Given the description of an element on the screen output the (x, y) to click on. 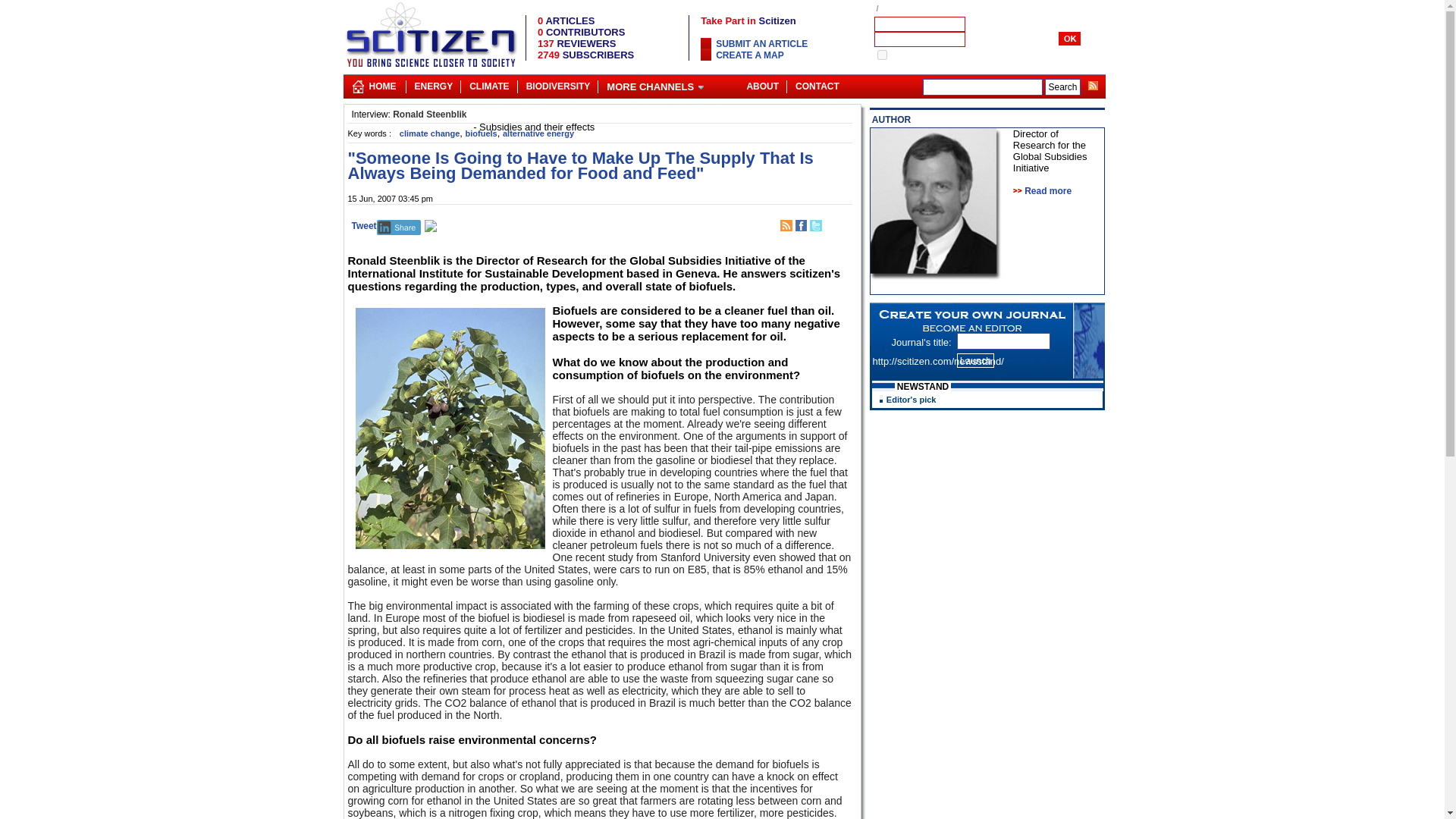
Search (1062, 86)
biofuels (481, 133)
Search (1062, 86)
true (881, 54)
climate change (429, 133)
Ronald Steenblik (429, 113)
CONTACT (817, 83)
ABOUT (762, 83)
alternative energy (537, 133)
CLIMATE (488, 83)
HOME (381, 83)
Share (399, 227)
ENERGY (433, 83)
Tweet (364, 225)
CREATE A MAP (750, 54)
